Given the description of an element on the screen output the (x, y) to click on. 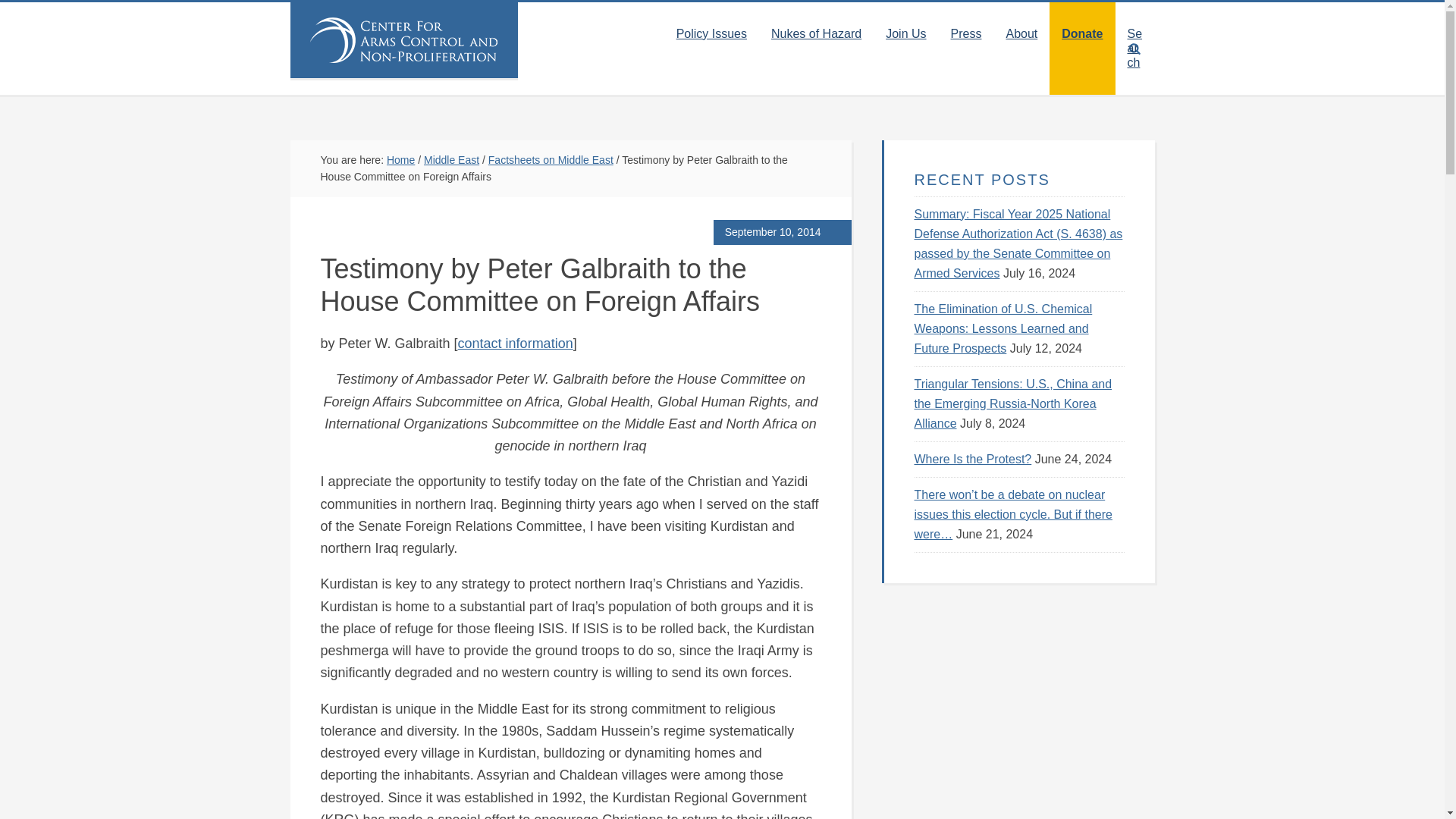
Policy Issues (710, 33)
Middle East (451, 159)
Home (400, 159)
contact information (515, 343)
Nukes of Hazard (815, 33)
CENTER FOR ARMS CONTROL AND NON-PROLIFERATION (402, 39)
About (1020, 33)
Join Us (905, 33)
Donate (1082, 33)
Where Is the Protest? (973, 459)
Factsheets on Middle East (549, 159)
